Given the description of an element on the screen output the (x, y) to click on. 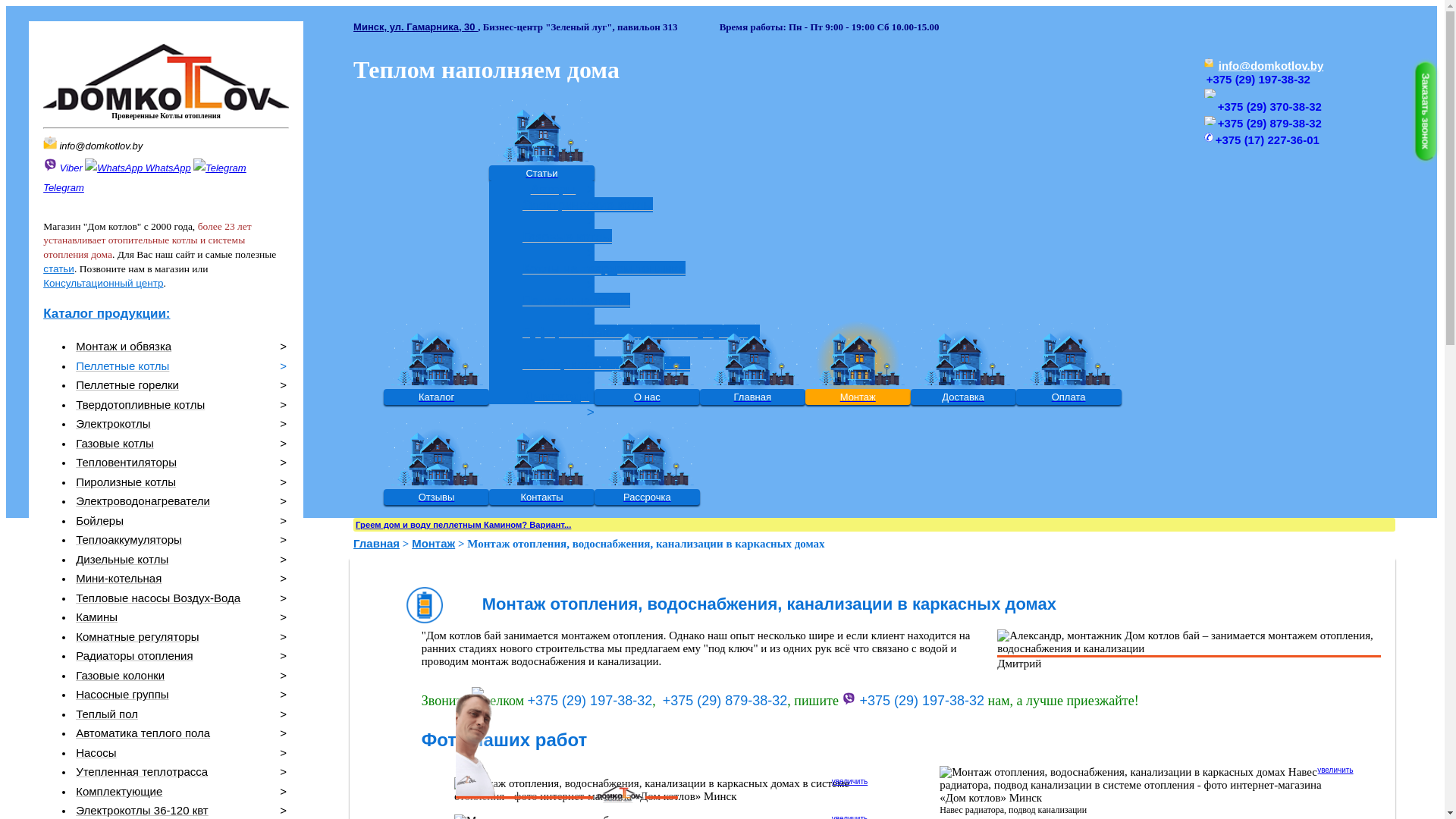
e-mail Element type: hover (49, 142)
e-mail Element type: hover (1208, 62)
+375 (29) 879-38-32 Element type: text (724, 700)
info@domkotlov.by Element type: text (1271, 65)
Telegram Element type: text (144, 177)
+375 (29) 370-38-32 Element type: text (1269, 106)
info@domkotlov.by Element type: text (100, 145)
+375 (29) 197-38-32 Element type: text (589, 700)
+375 (17) 227-36-01 Element type: text (1267, 139)
+375 (29) 197-38-32 Element type: text (1258, 78)
WhatsApp Element type: text (137, 167)
+375 (29) 197-38-32 Element type: text (912, 700)
Viber Element type: text (62, 167)
+375 (29) 879-38-32 Element type: text (1269, 122)
